Given the description of an element on the screen output the (x, y) to click on. 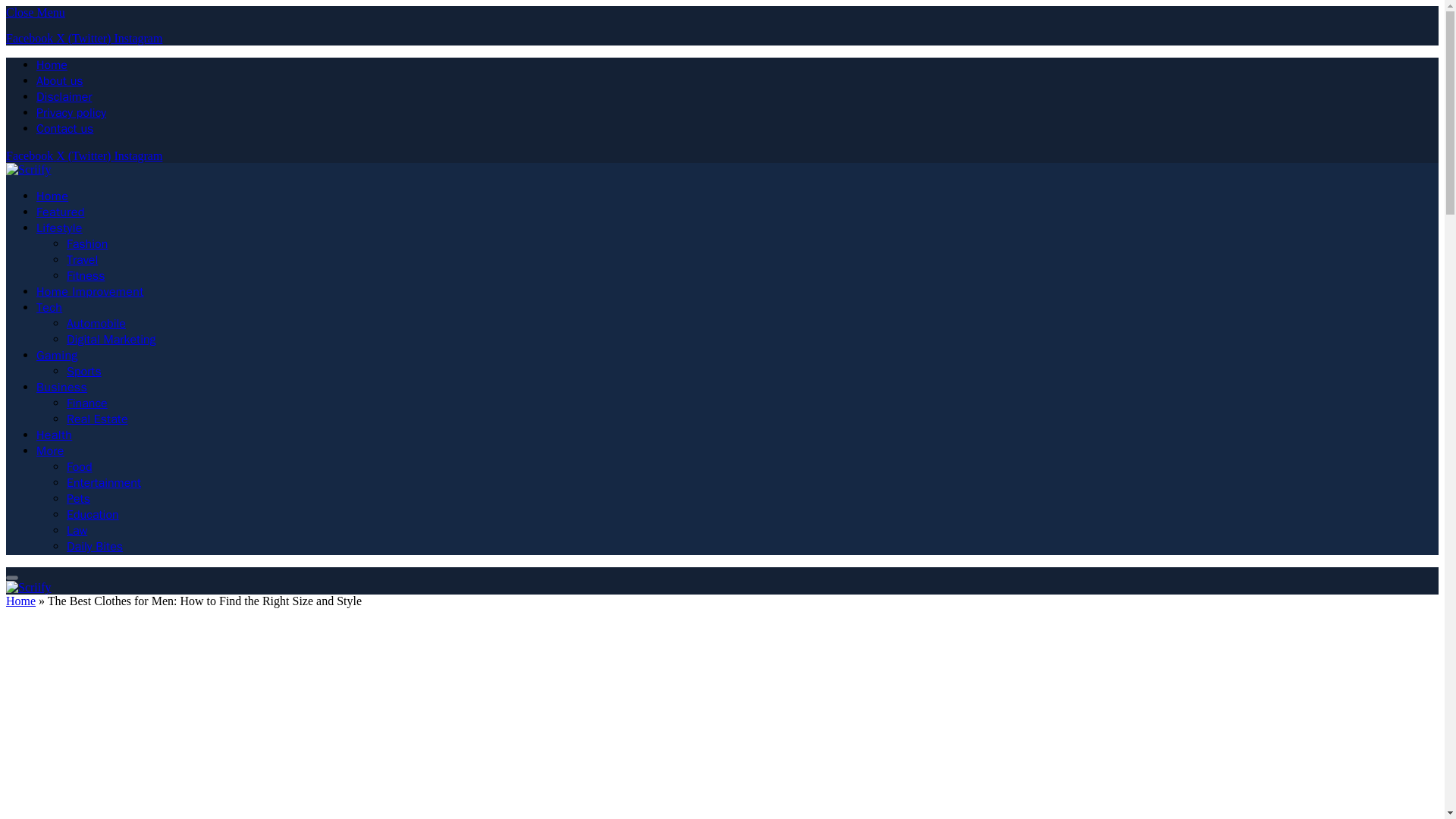
Fitness (85, 275)
More (50, 450)
Instagram (137, 155)
Scriify (27, 586)
Facebook (30, 38)
Home (52, 196)
Gaming (57, 355)
Food (79, 467)
Finance (86, 403)
Home (51, 64)
